Given the description of an element on the screen output the (x, y) to click on. 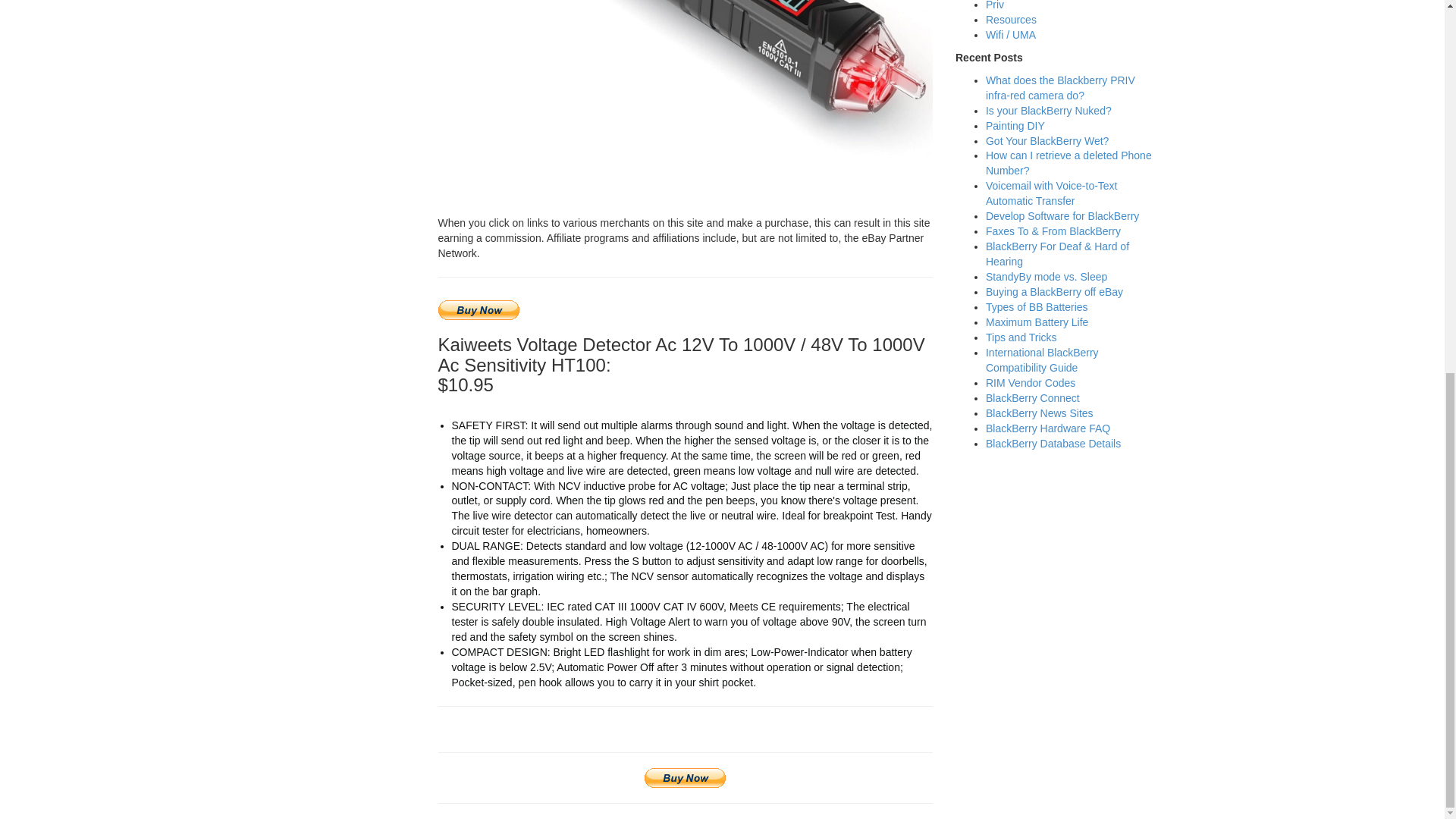
Priv (994, 5)
Buy Now (478, 310)
Resources (1010, 19)
Buy Now (685, 777)
